Given the description of an element on the screen output the (x, y) to click on. 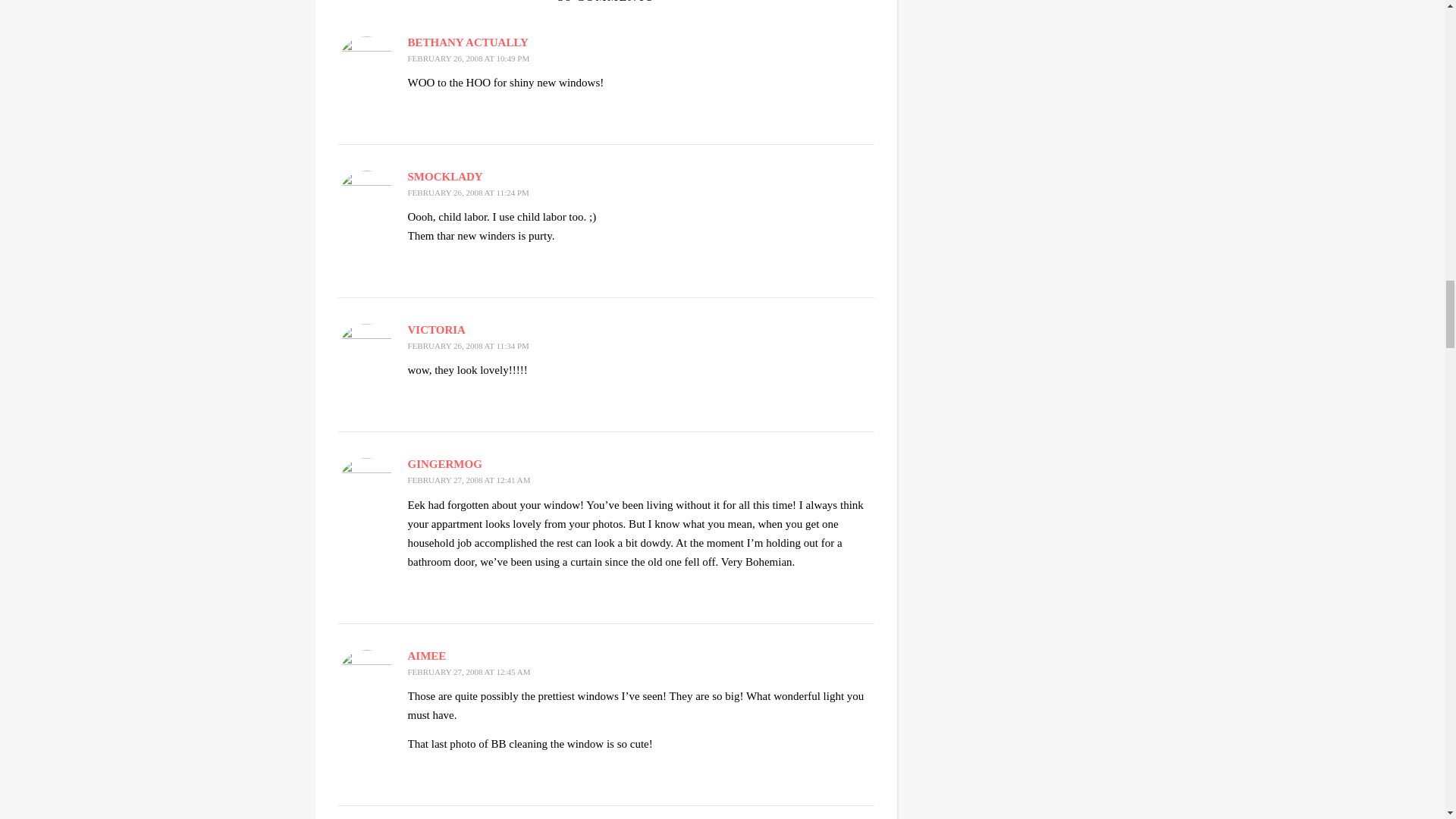
SMOCKLADY (445, 176)
FEBRUARY 26, 2008 AT 11:24 PM (468, 192)
BETHANY ACTUALLY (467, 42)
VICTORIA (436, 329)
GINGERMOG (444, 463)
FEBRUARY 26, 2008 AT 11:34 PM (468, 345)
FEBRUARY 26, 2008 AT 10:49 PM (468, 57)
